Given the description of an element on the screen output the (x, y) to click on. 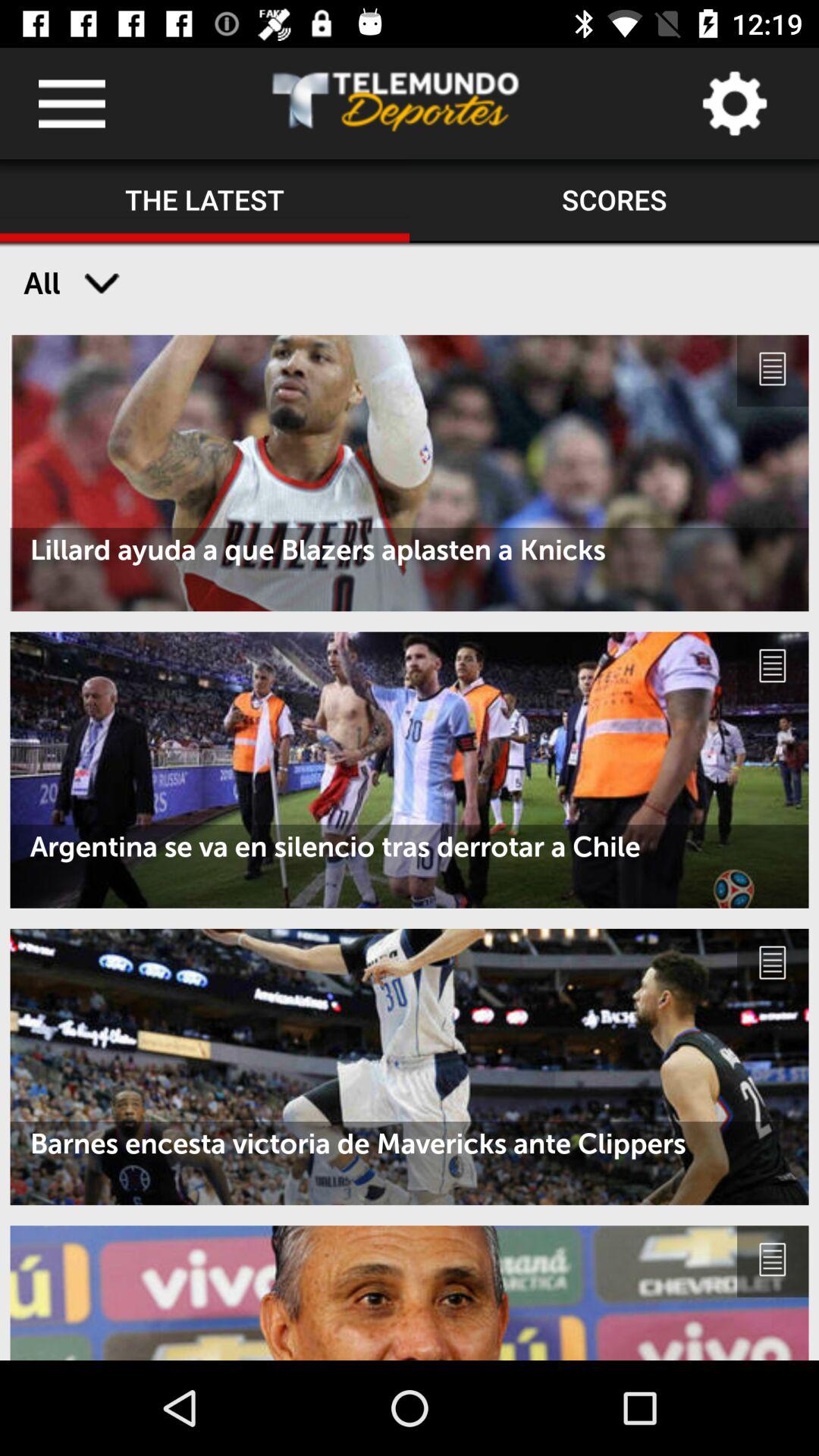
choose the argentina se va icon (409, 846)
